Given the description of an element on the screen output the (x, y) to click on. 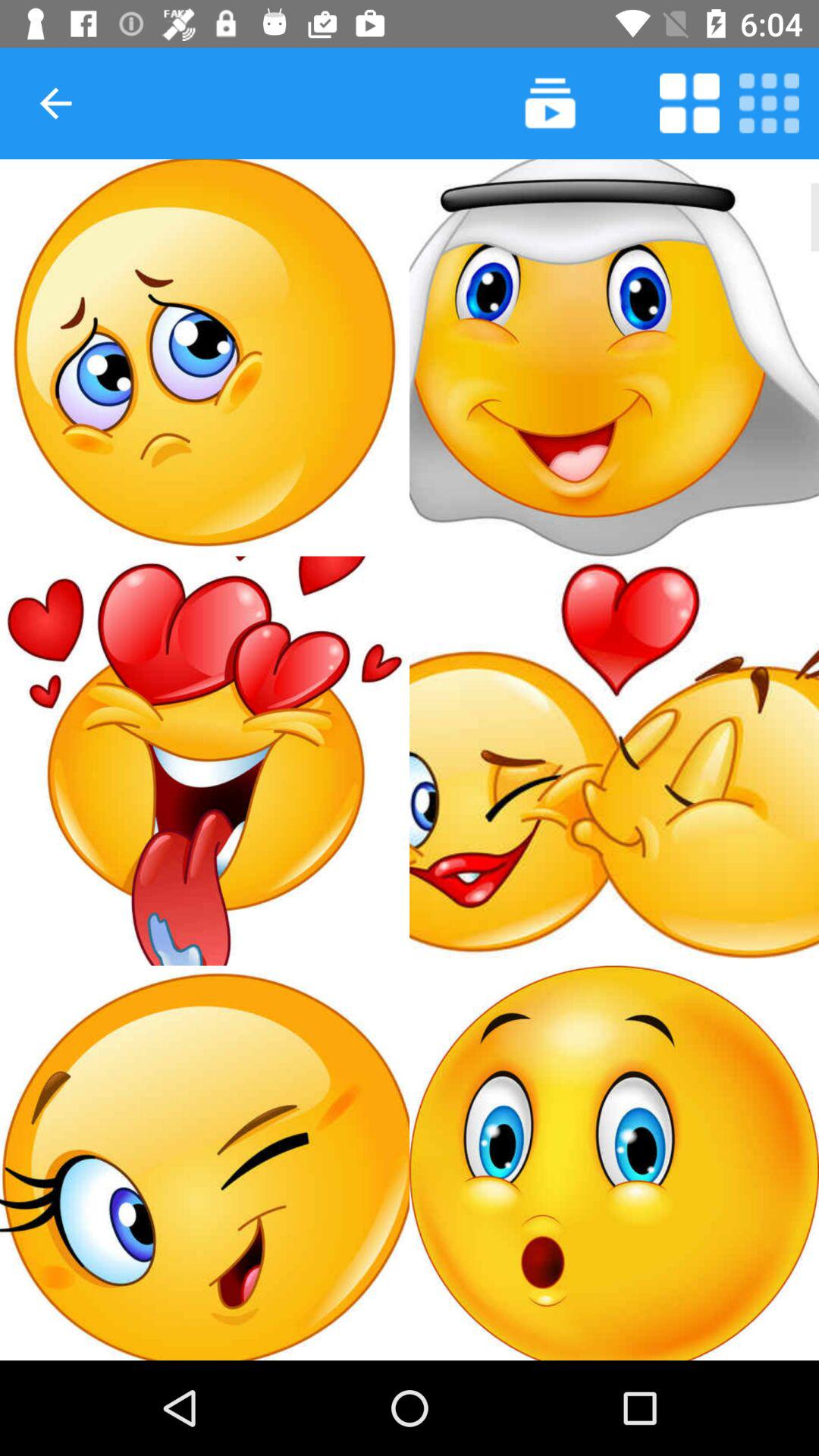
switch autoplay option (689, 103)
